Given the description of an element on the screen output the (x, y) to click on. 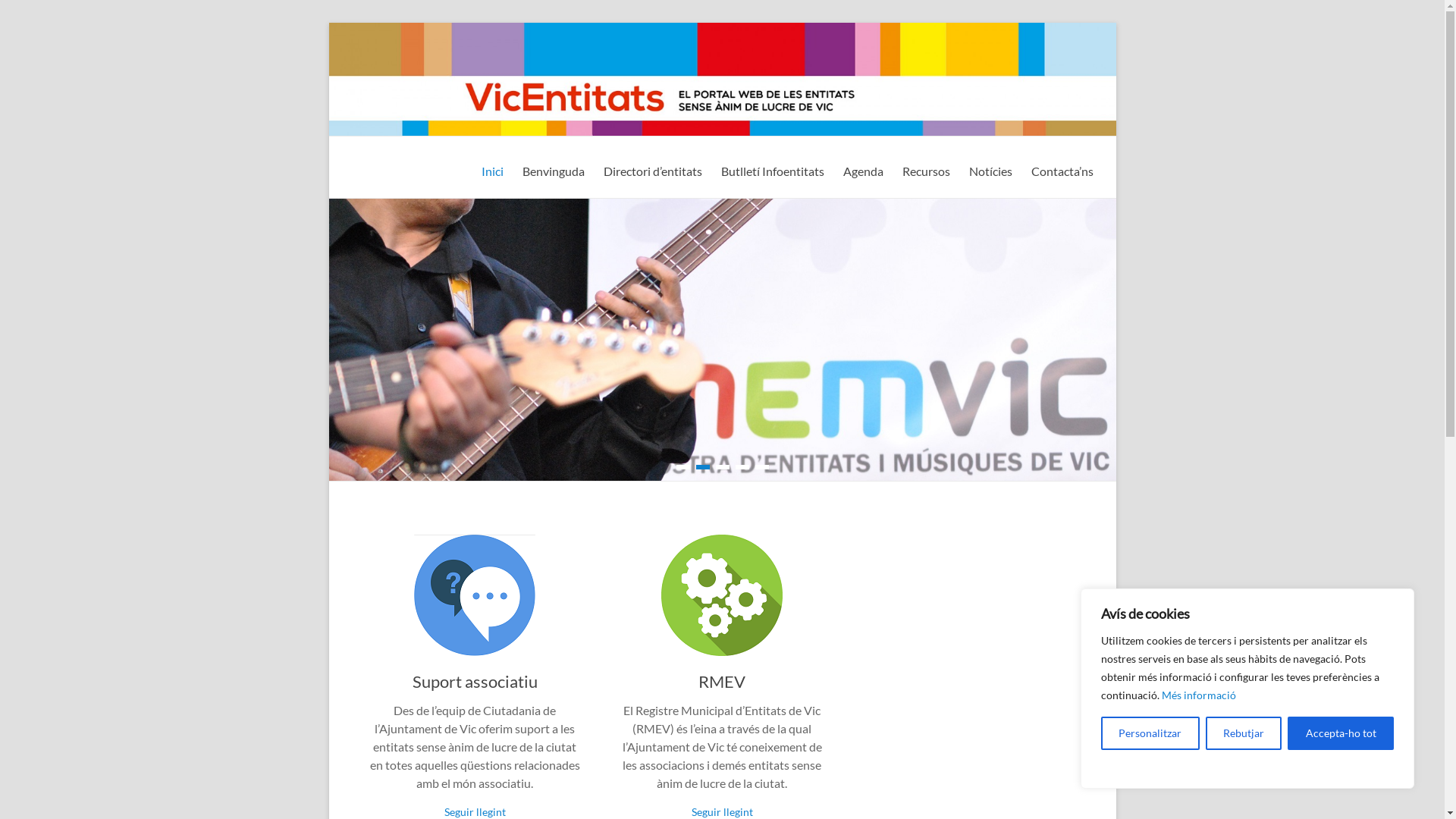
Rebutjar Element type: text (1243, 732)
Inici Element type: text (491, 168)
Accepta-ho tot Element type: text (1340, 732)
Recursos Element type: text (926, 168)
RMEV Element type: text (721, 681)
Agenda Element type: text (863, 168)
Personalitzar Element type: text (1150, 732)
Suport associatiu Element type: text (474, 681)
Seguir llegint Element type: text (722, 811)
Seguir llegint Element type: text (474, 811)
Benvinguda Element type: text (552, 168)
